Given the description of an element on the screen output the (x, y) to click on. 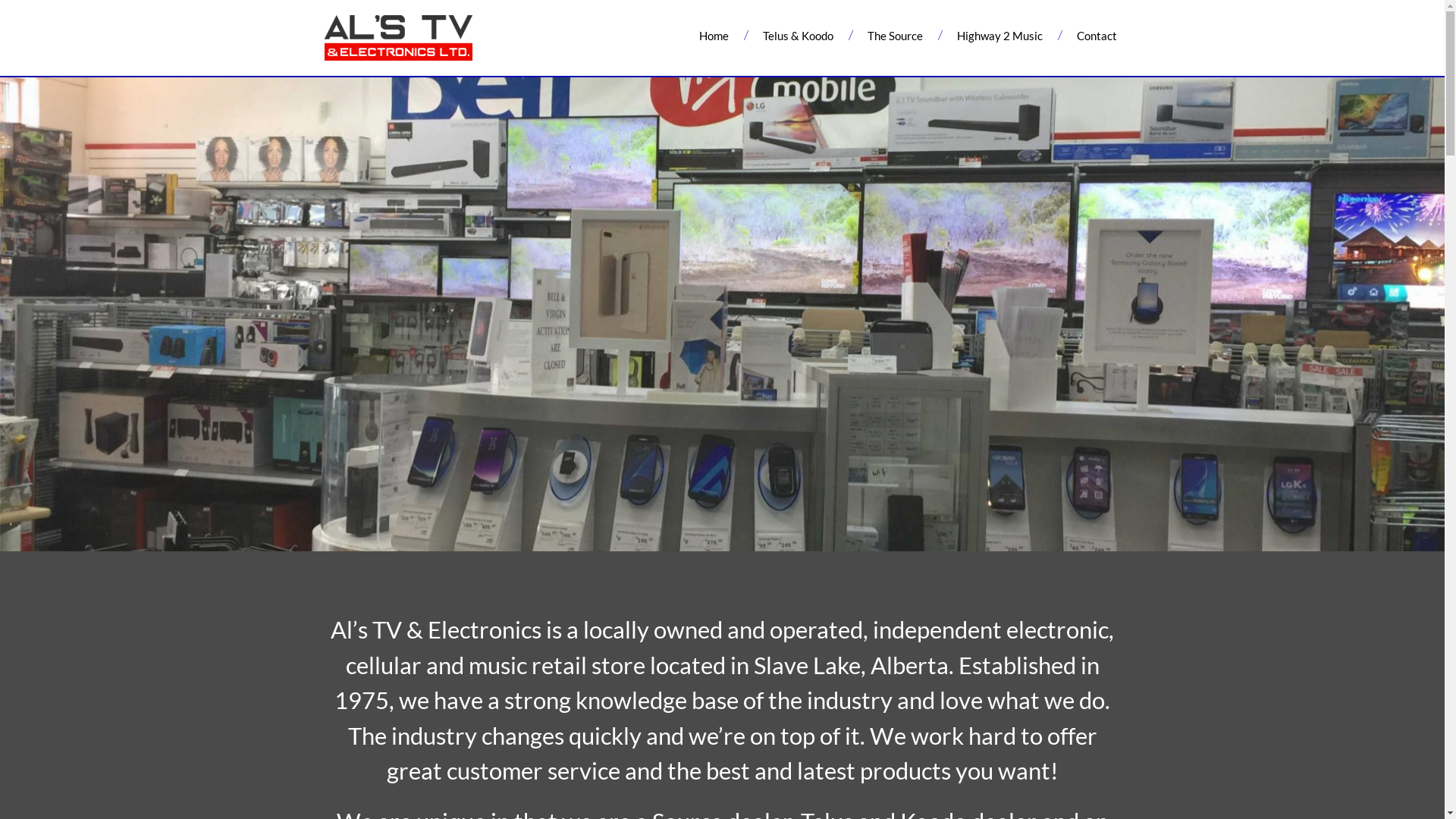
Contact Element type: text (1096, 35)
Home Element type: text (713, 35)
Telus & Koodo Element type: text (797, 35)
Highway 2 Music Element type: text (999, 35)
The Source Element type: text (894, 35)
